Given the description of an element on the screen output the (x, y) to click on. 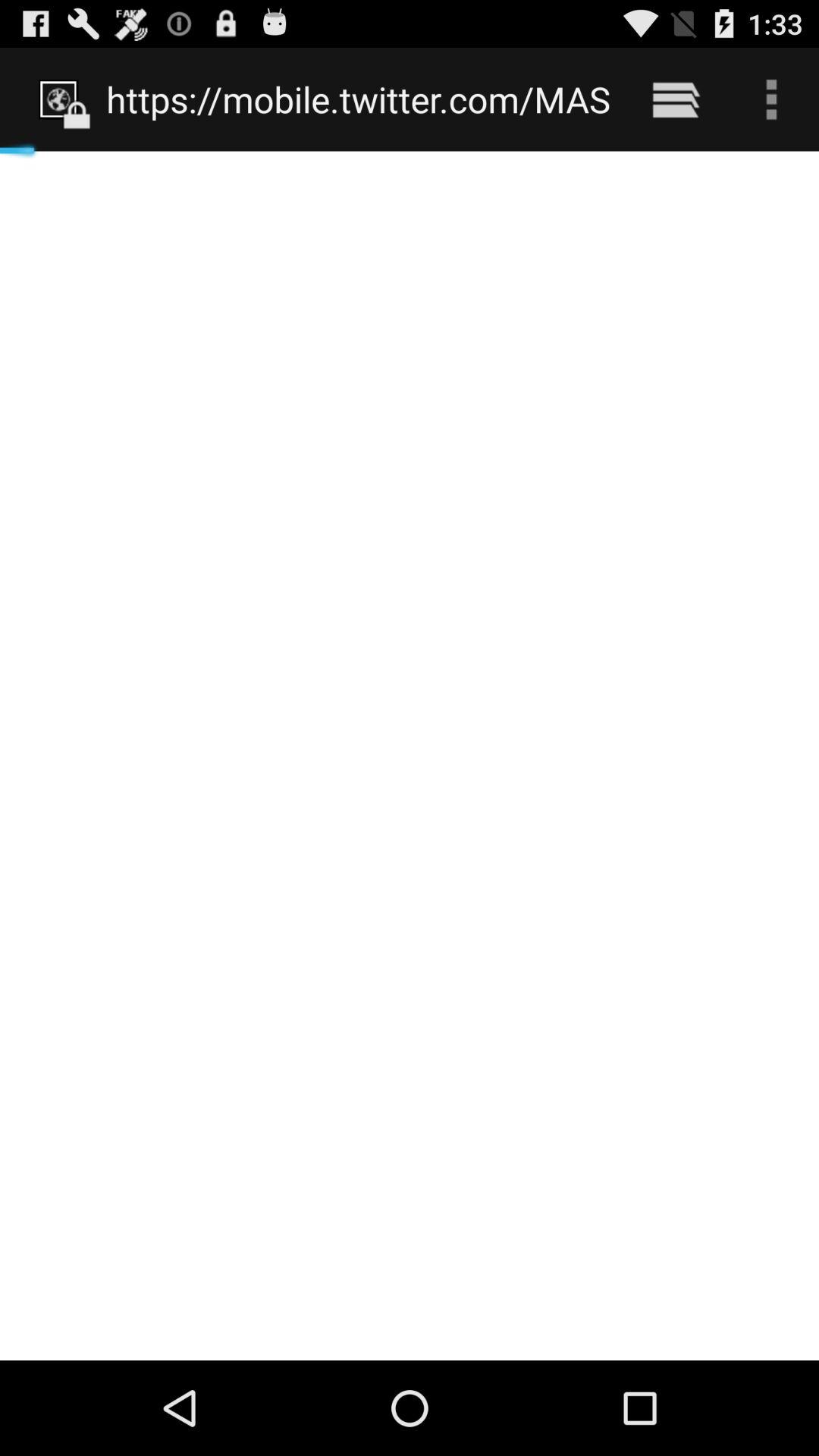
select icon at the center (409, 755)
